Given the description of an element on the screen output the (x, y) to click on. 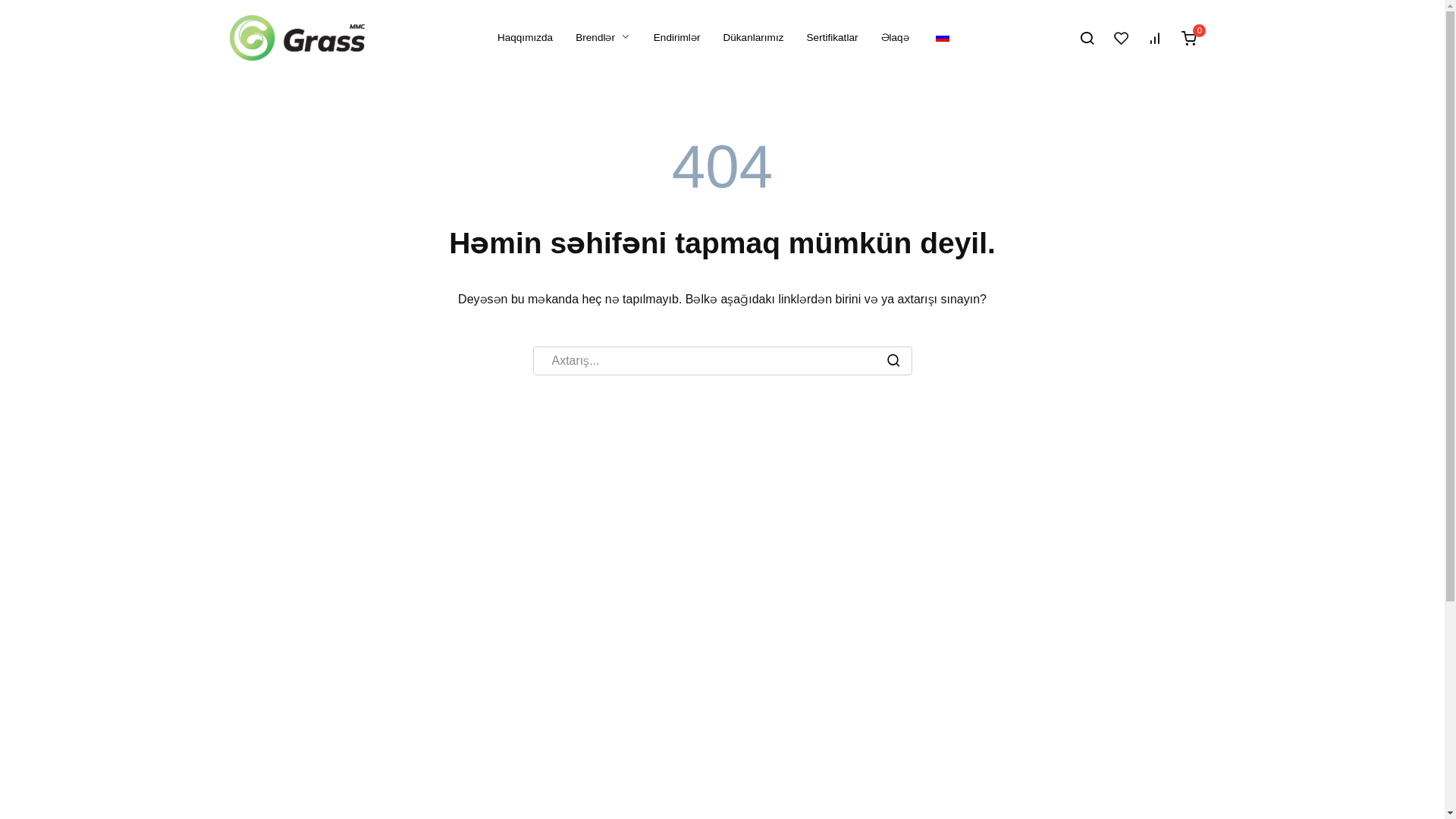
0 Element type: text (1193, 37)
Sertifikatlar Element type: text (832, 37)
